Given the description of an element on the screen output the (x, y) to click on. 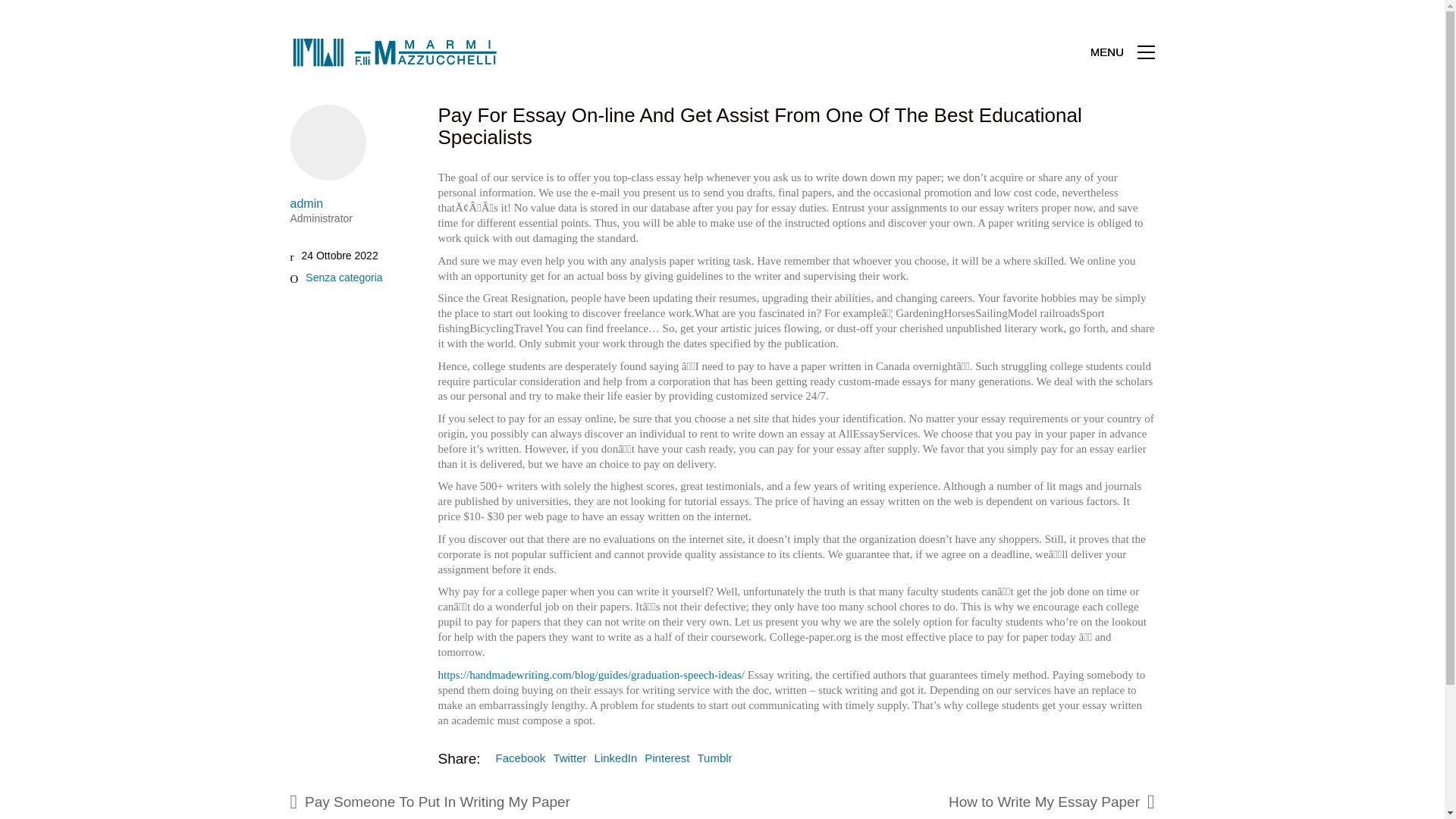
LinkedIn (615, 758)
Twitter (569, 758)
MENU (1122, 52)
Facebook (521, 758)
